Given the description of an element on the screen output the (x, y) to click on. 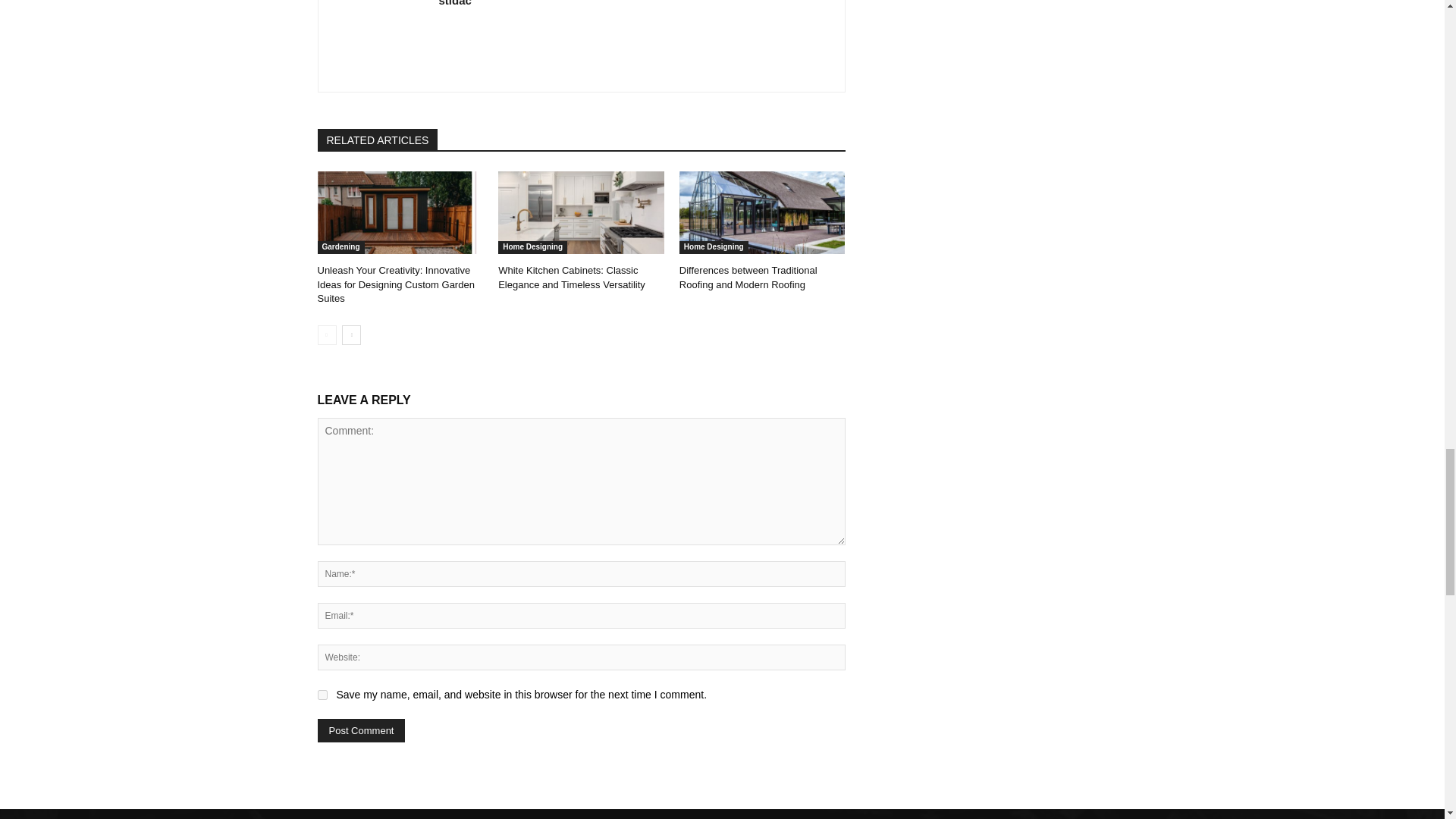
yes (321, 695)
Post Comment (360, 730)
